Given the description of an element on the screen output the (x, y) to click on. 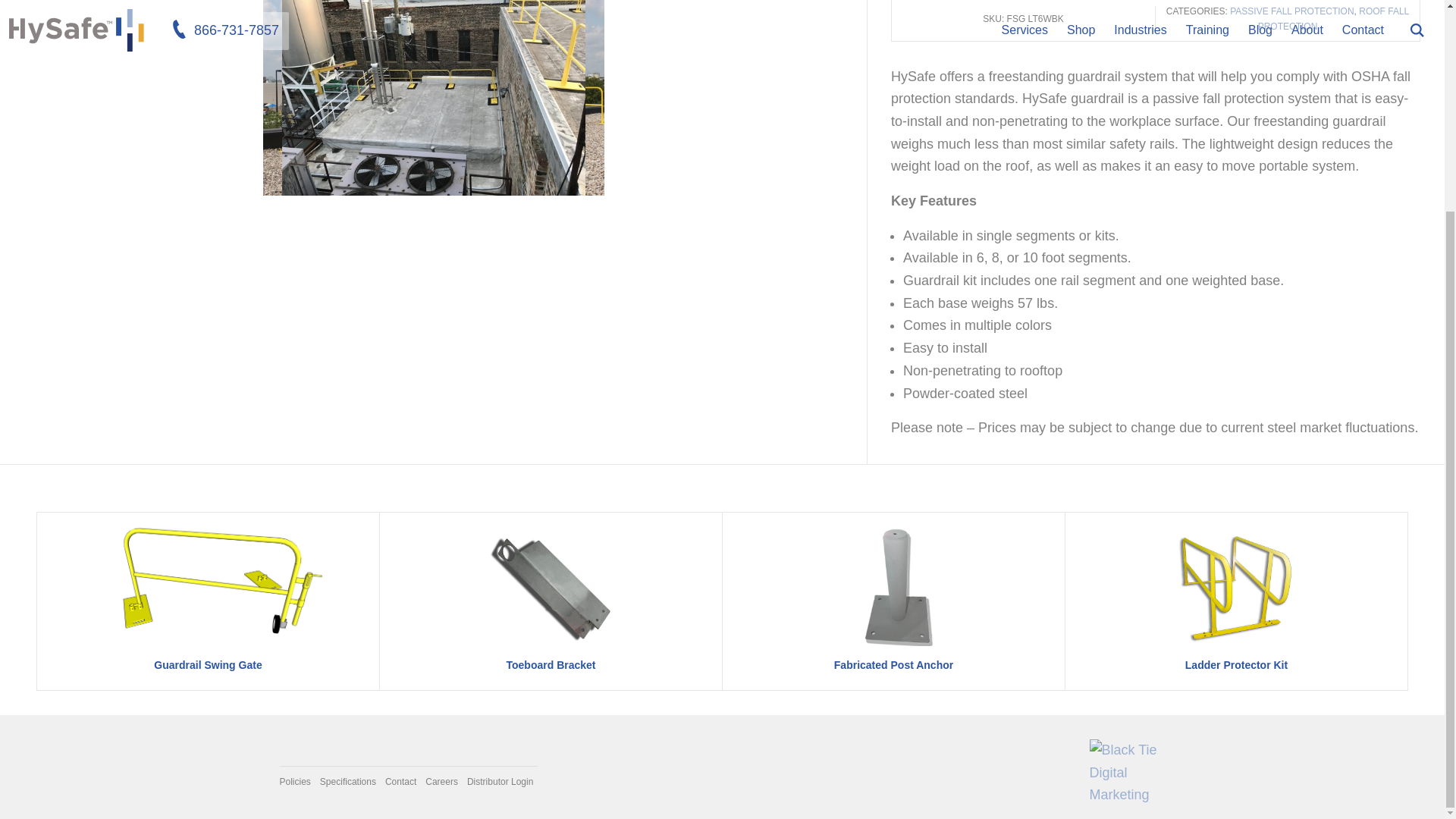
HySafe Guardrail (433, 97)
Goose Island Guardrail (433, 97)
HySafe Guardrail (433, 97)
Black Tie Digital Marketing (1126, 772)
ROOF FALL PROTECTION (1333, 18)
PASSIVE FALL PROTECTION (1292, 10)
